Given the description of an element on the screen output the (x, y) to click on. 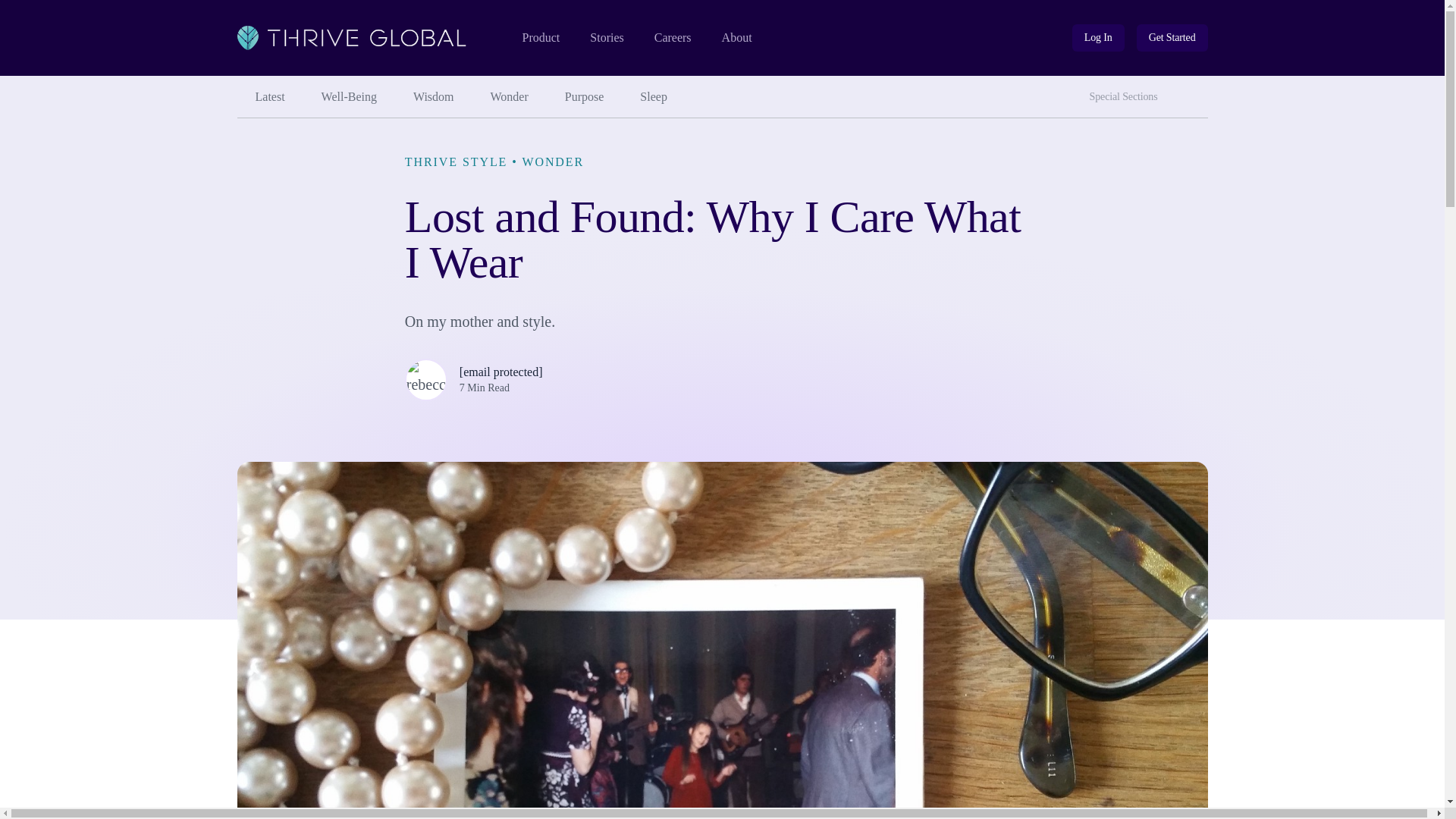
Special Sections (1126, 97)
Log In (1097, 37)
Latest (268, 96)
Well-Being (348, 96)
Stories (606, 37)
Wonder (509, 96)
About (737, 37)
Sleep (653, 96)
Purpose (585, 96)
Get Started (1172, 37)
